Given the description of an element on the screen output the (x, y) to click on. 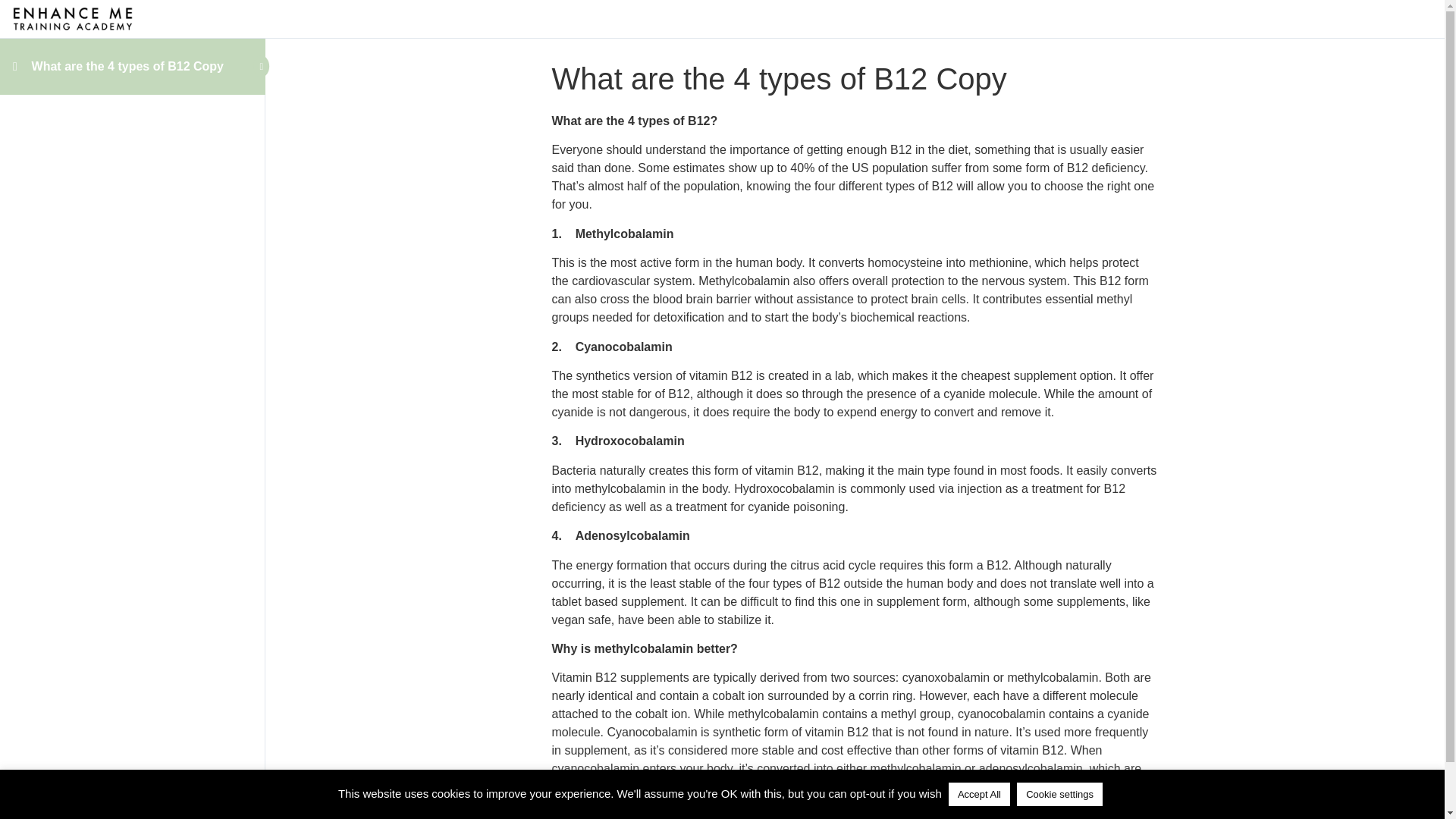
Cookie settings (1059, 793)
What are the 4 types of B12 Copy (128, 65)
Accept All (979, 793)
